Given the description of an element on the screen output the (x, y) to click on. 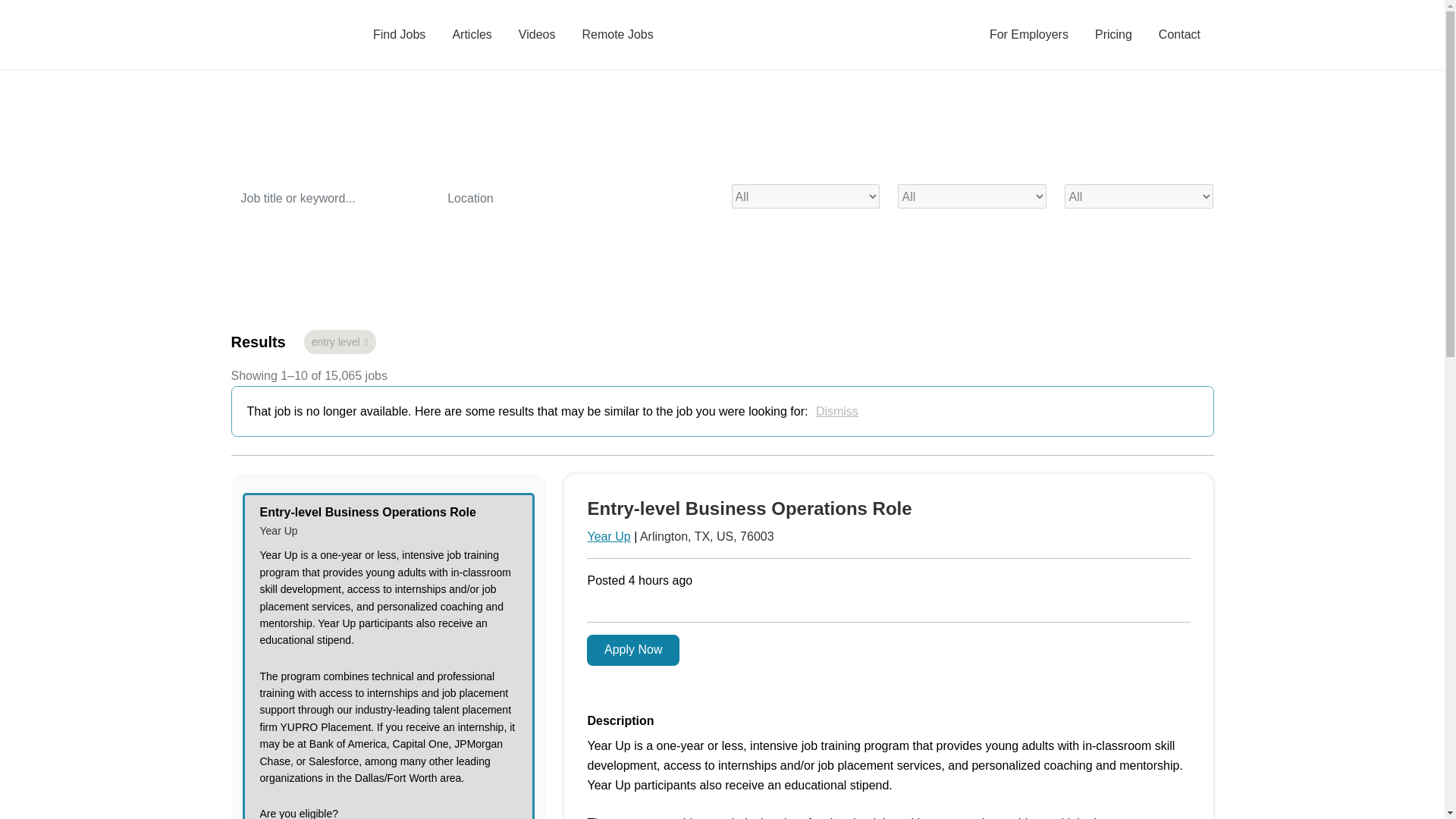
Find Jobs (398, 34)
Search (267, 240)
Search (267, 240)
College Recruiter (272, 35)
entry level  (339, 341)
Contact (1178, 34)
Dismiss (836, 411)
Videos (537, 34)
Apply Now (632, 649)
Year Up (608, 535)
Remote Jobs (617, 34)
For Employers (1028, 34)
Articles (472, 34)
Pricing (1112, 34)
